Given the description of an element on the screen output the (x, y) to click on. 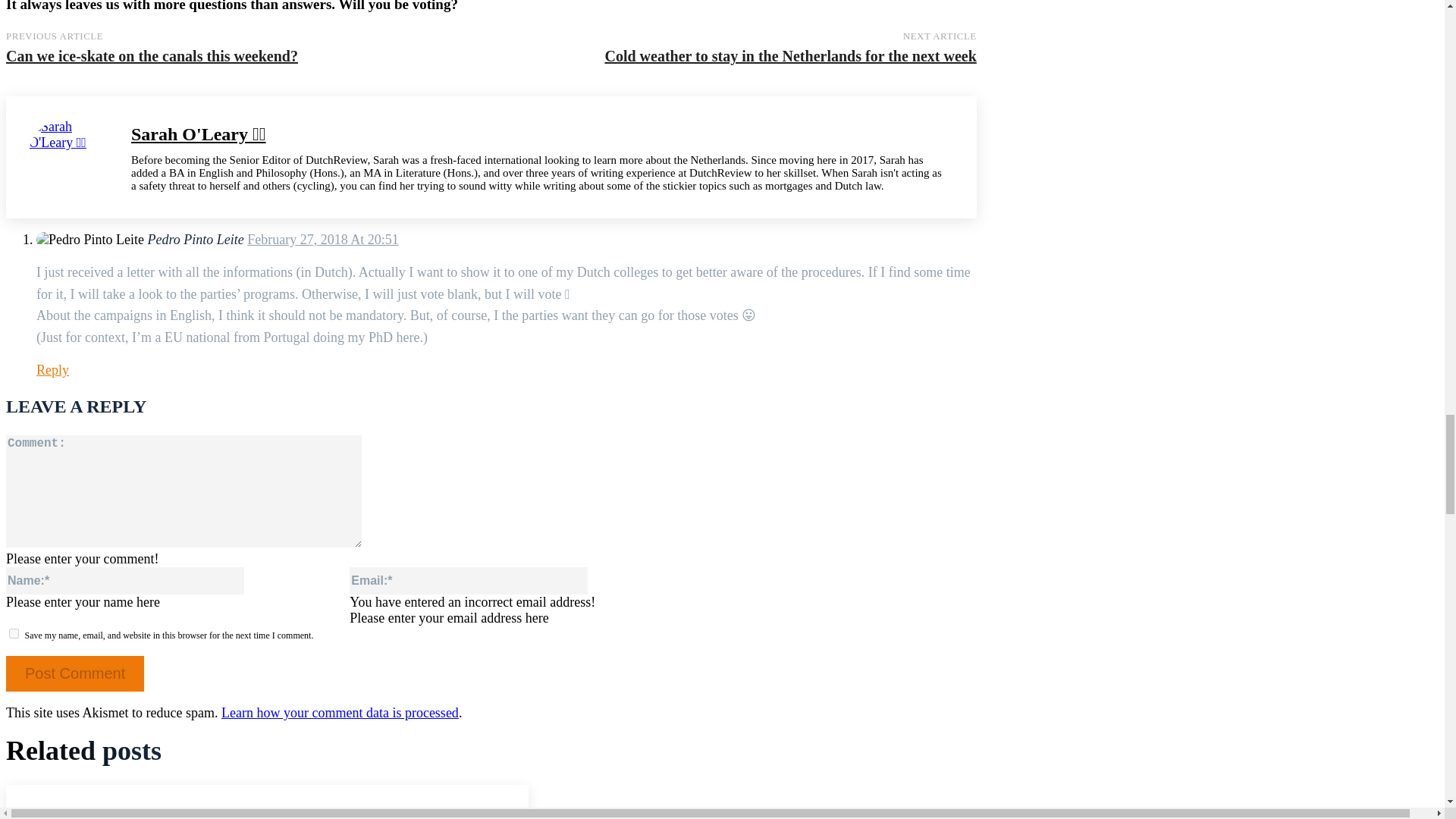
yes (13, 633)
Post Comment (74, 673)
We need to talk about Dutch music, even though it hurts (266, 801)
